Given the description of an element on the screen output the (x, y) to click on. 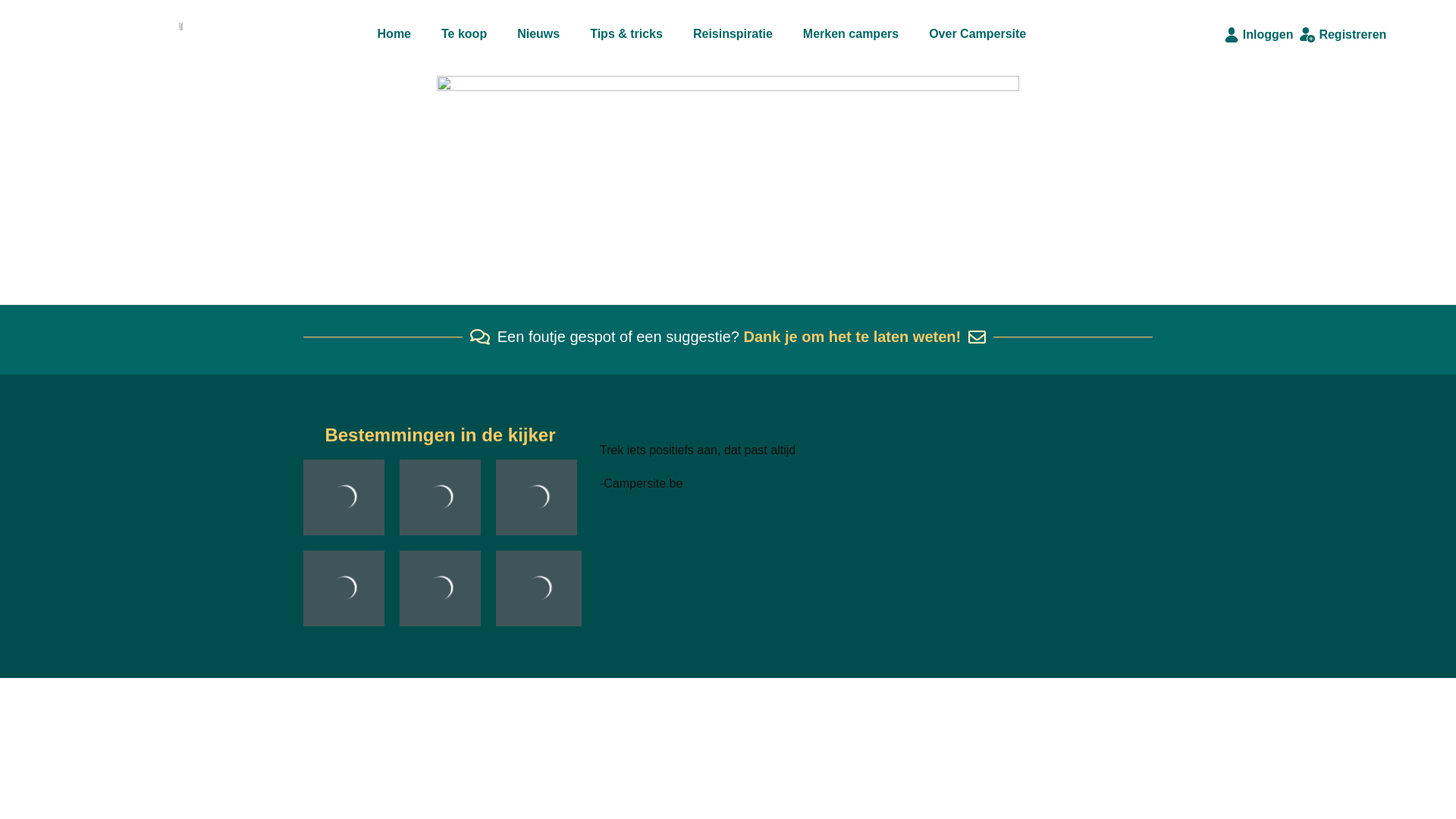
Over Campersite Element type: text (977, 33)
Nieuws Element type: text (538, 33)
Te koop Element type: text (464, 33)
Home Element type: text (394, 33)
Merken campers Element type: text (850, 33)
Reisinspiratie Element type: text (732, 33)
Tips & tricks Element type: text (625, 33)
